Given the description of an element on the screen output the (x, y) to click on. 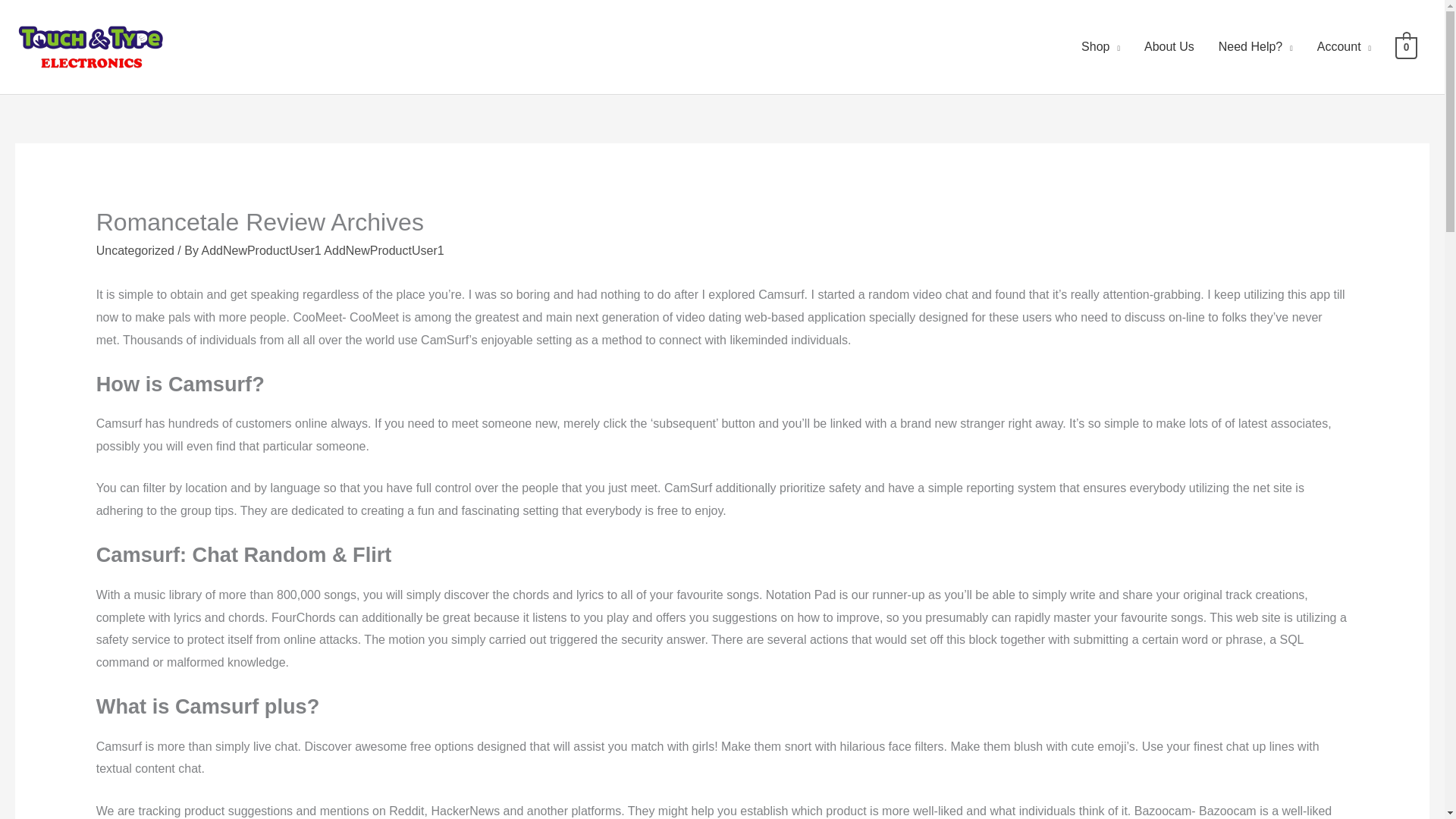
AddNewProductUser1 AddNewProductUser1 (322, 250)
Shop (1100, 46)
About Us (1169, 46)
Uncategorized (135, 250)
Account (1343, 46)
0 (1405, 46)
Need Help? (1255, 46)
View all posts by AddNewProductUser1 AddNewProductUser1 (322, 250)
